Given the description of an element on the screen output the (x, y) to click on. 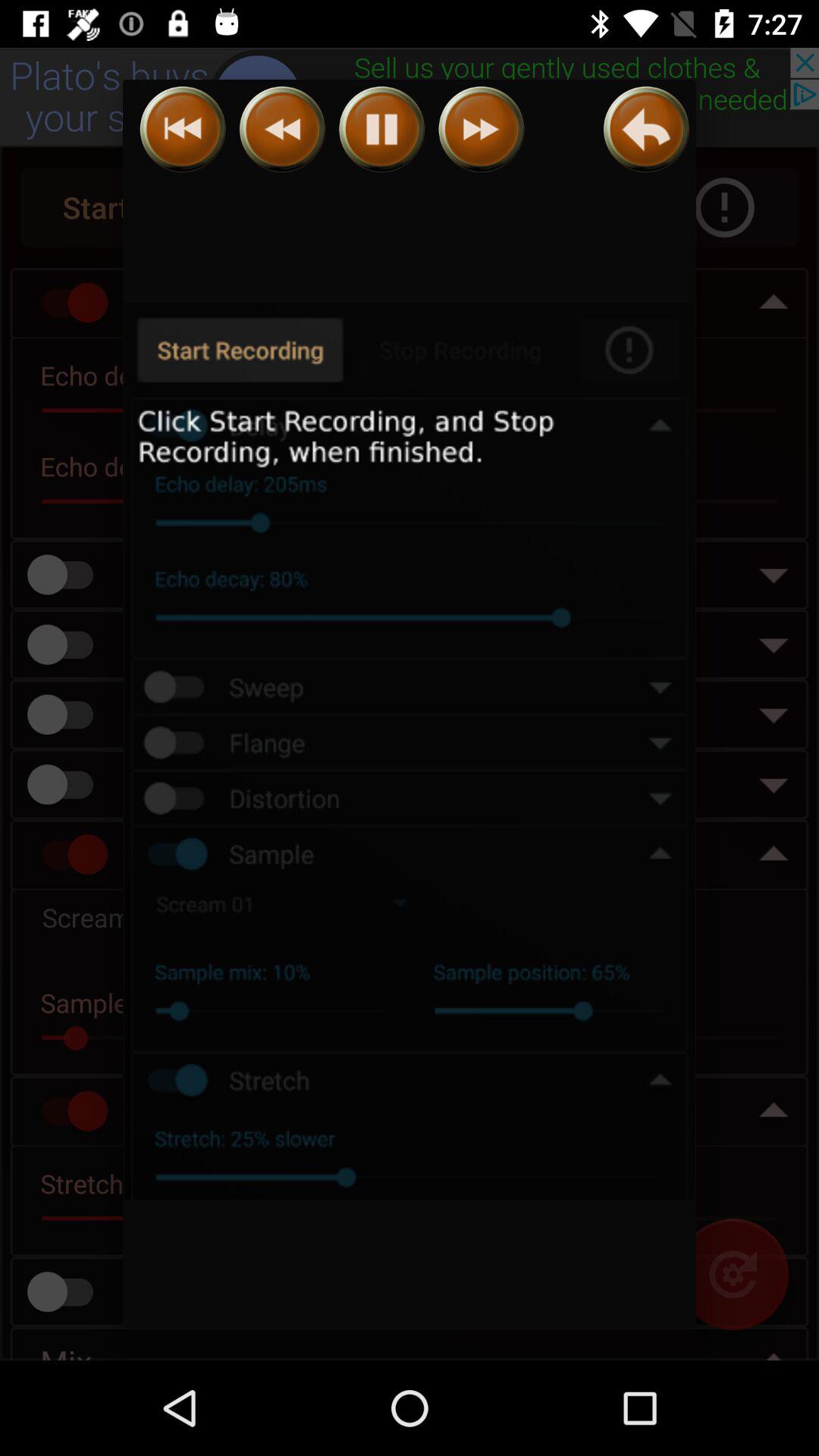
go to beginning (182, 129)
